Given the description of an element on the screen output the (x, y) to click on. 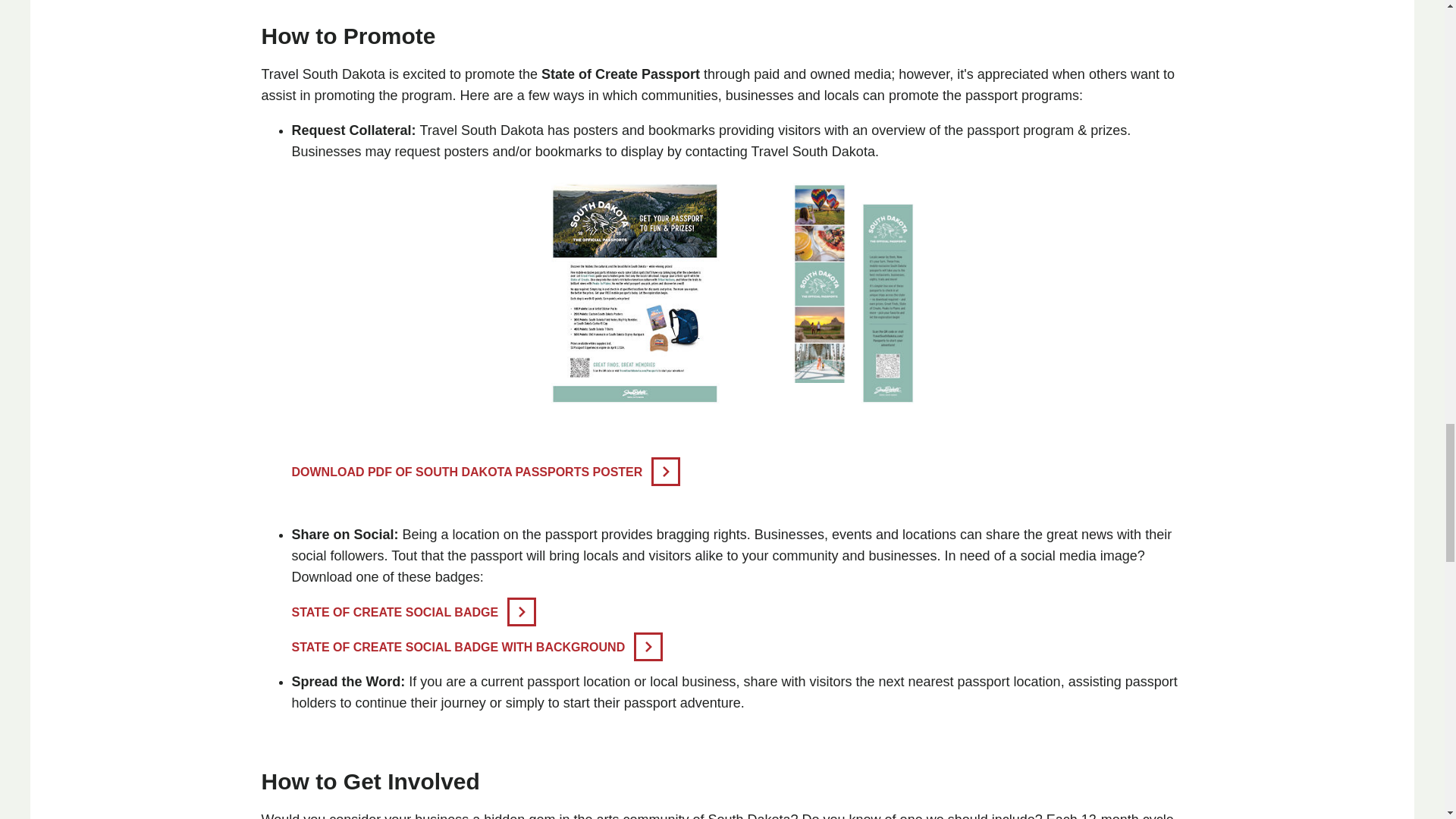
STATE OF CREATE SOCIAL BADGE (413, 612)
DOWNLOAD PDF OF SOUTH DAKOTA PASSPORTS POSTER (485, 471)
STATE OF CREATE SOCIAL BADGE WITH BACKGROUND (476, 646)
